Given the description of an element on the screen output the (x, y) to click on. 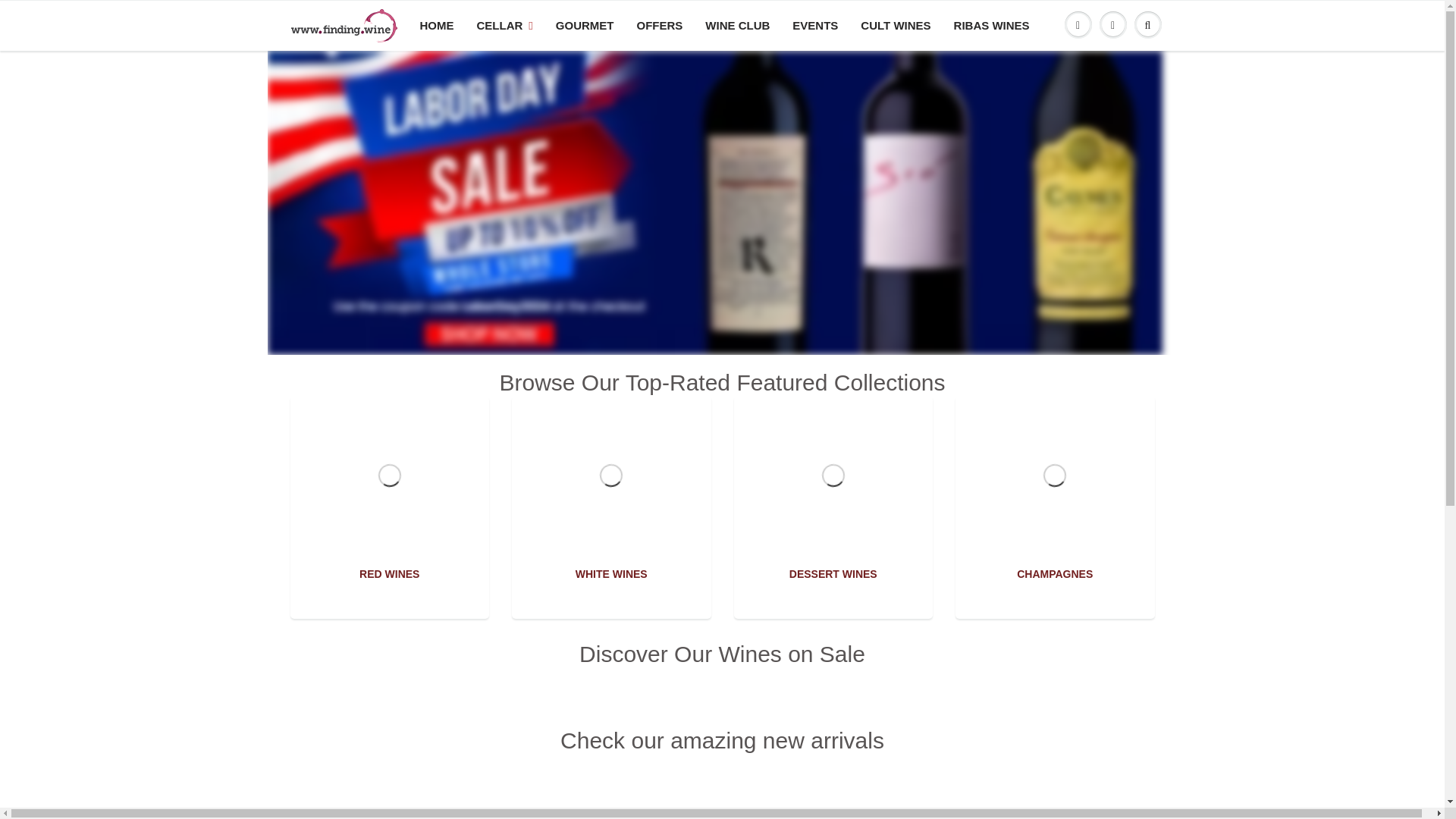
Browse our White wines collection (611, 406)
CELLAR (504, 25)
Browse our Champagnes collection (1055, 406)
Browse our Champagnes collection (1054, 573)
Browse our Dessert wines collection (832, 406)
Browse our Dessert wines collection (833, 573)
HOME (435, 25)
Browse our White wines collection (611, 573)
Browse our Red wines collection (389, 406)
Browse our Red wines collection (389, 573)
